Given the description of an element on the screen output the (x, y) to click on. 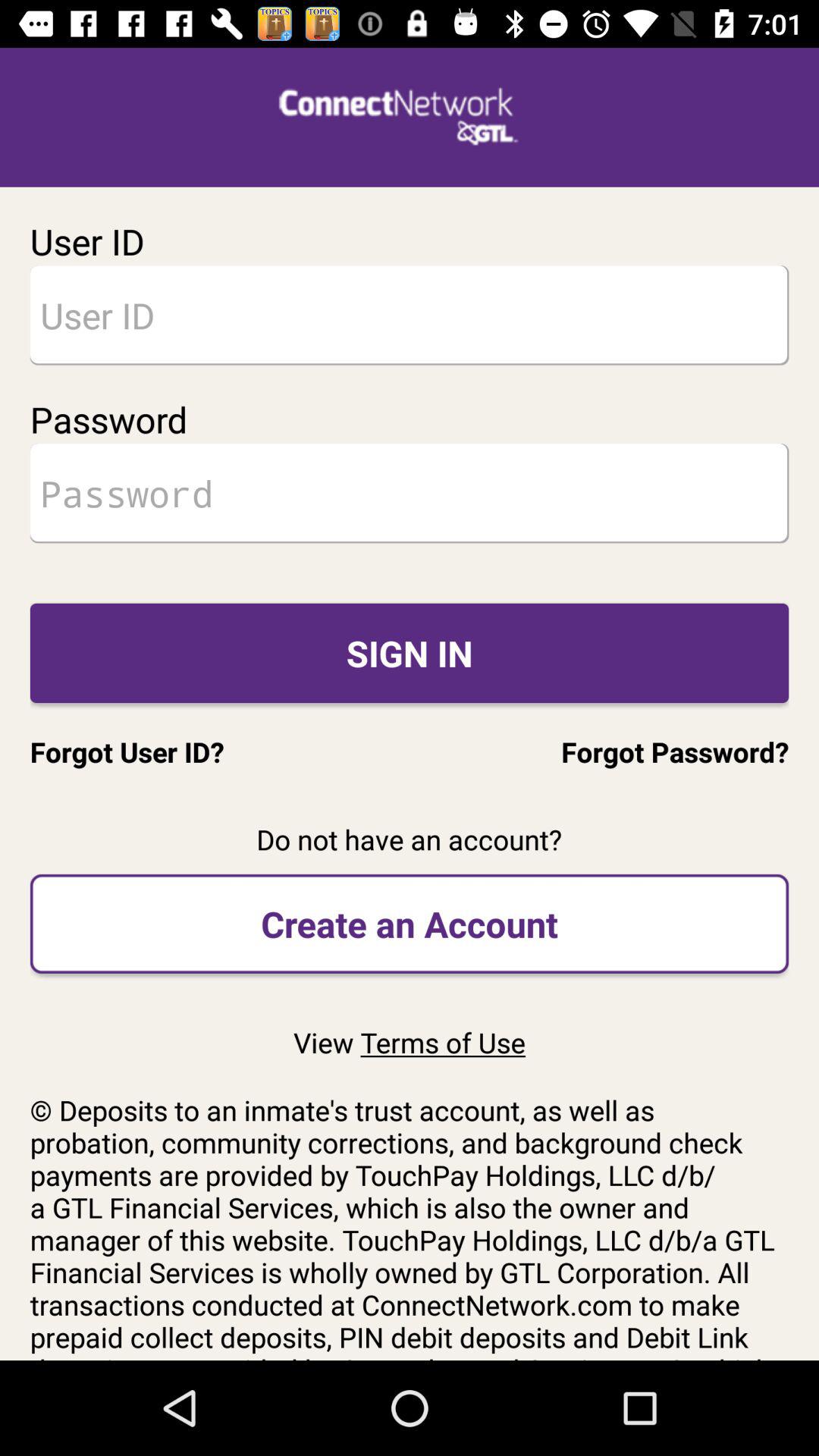
password box (409, 493)
